Given the description of an element on the screen output the (x, y) to click on. 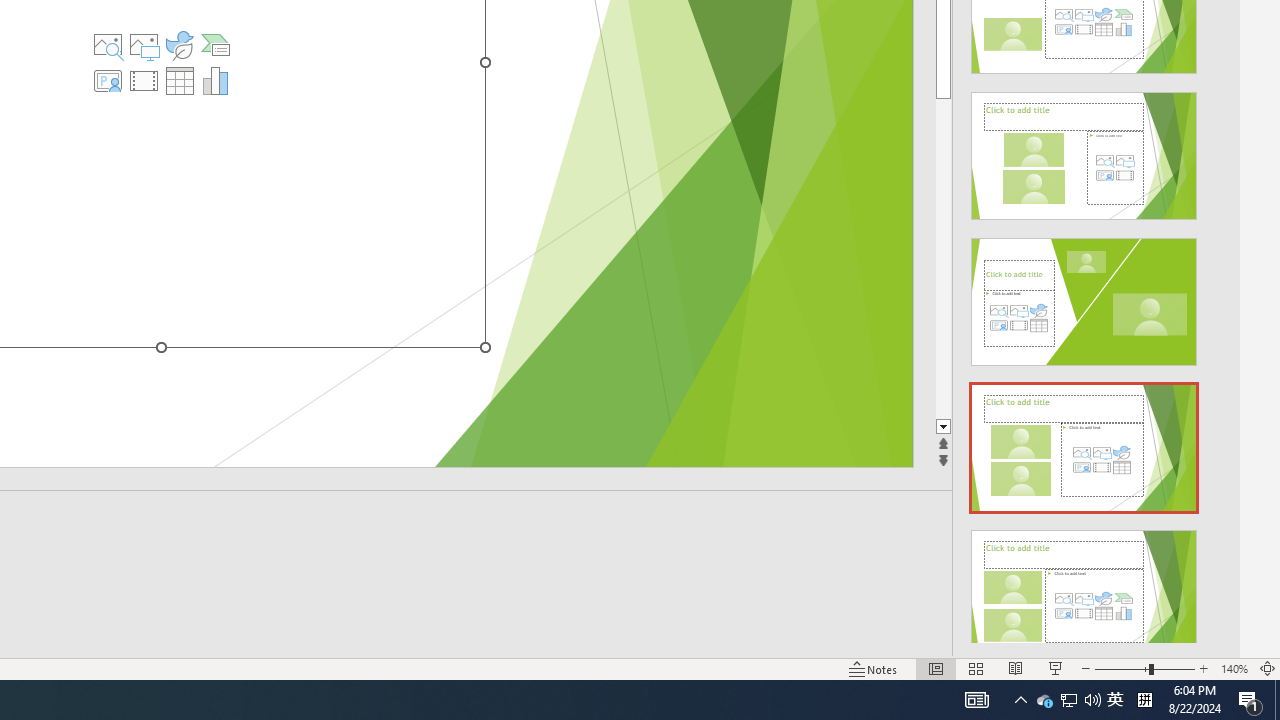
Insert Cameo (108, 80)
Design Idea (1083, 587)
Insert an Icon (179, 44)
Page down (943, 258)
Insert Chart (215, 80)
Pictures (144, 44)
Stock Images (108, 44)
Zoom 140% (1234, 668)
